Given the description of an element on the screen output the (x, y) to click on. 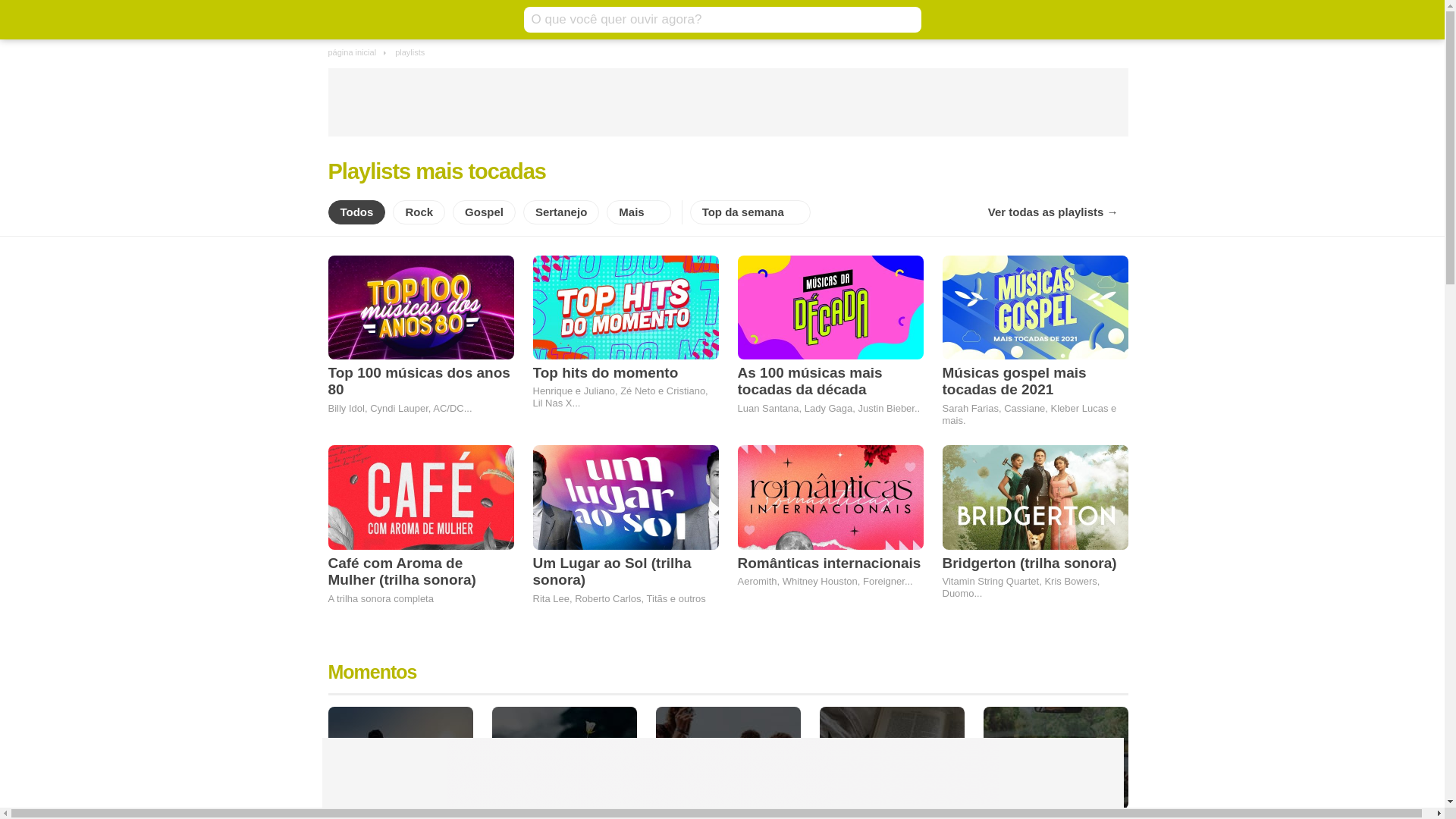
Rock Element type: text (418, 212)
Top da semana Element type: text (750, 212)
Todos Element type: text (356, 212)
3rd party ad content Element type: hover (721, 772)
Sertanejo Element type: text (561, 212)
Festa Element type: text (727, 757)
Viajar Element type: text (1054, 757)
menu Element type: text (338, 19)
Mais Element type: text (638, 212)
buscar Element type: text (905, 19)
close Element type: text (1113, 729)
Romance Element type: text (563, 757)
Descansar Element type: text (399, 757)
Ver todas as playlists Element type: text (1053, 212)
Gospel Element type: text (483, 212)
